Given the description of an element on the screen output the (x, y) to click on. 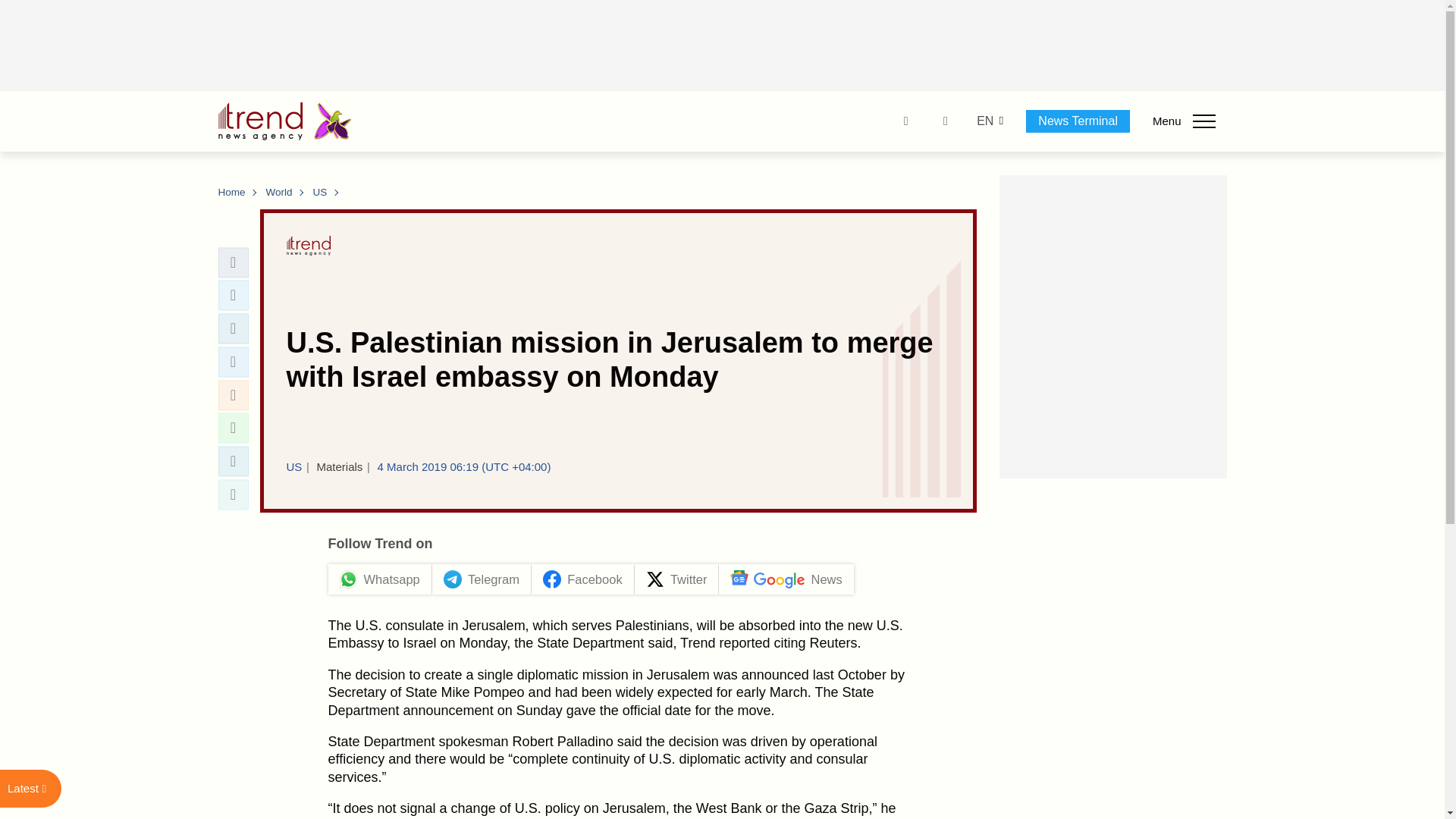
English (984, 121)
EN (984, 121)
News Terminal (1077, 120)
